Given the description of an element on the screen output the (x, y) to click on. 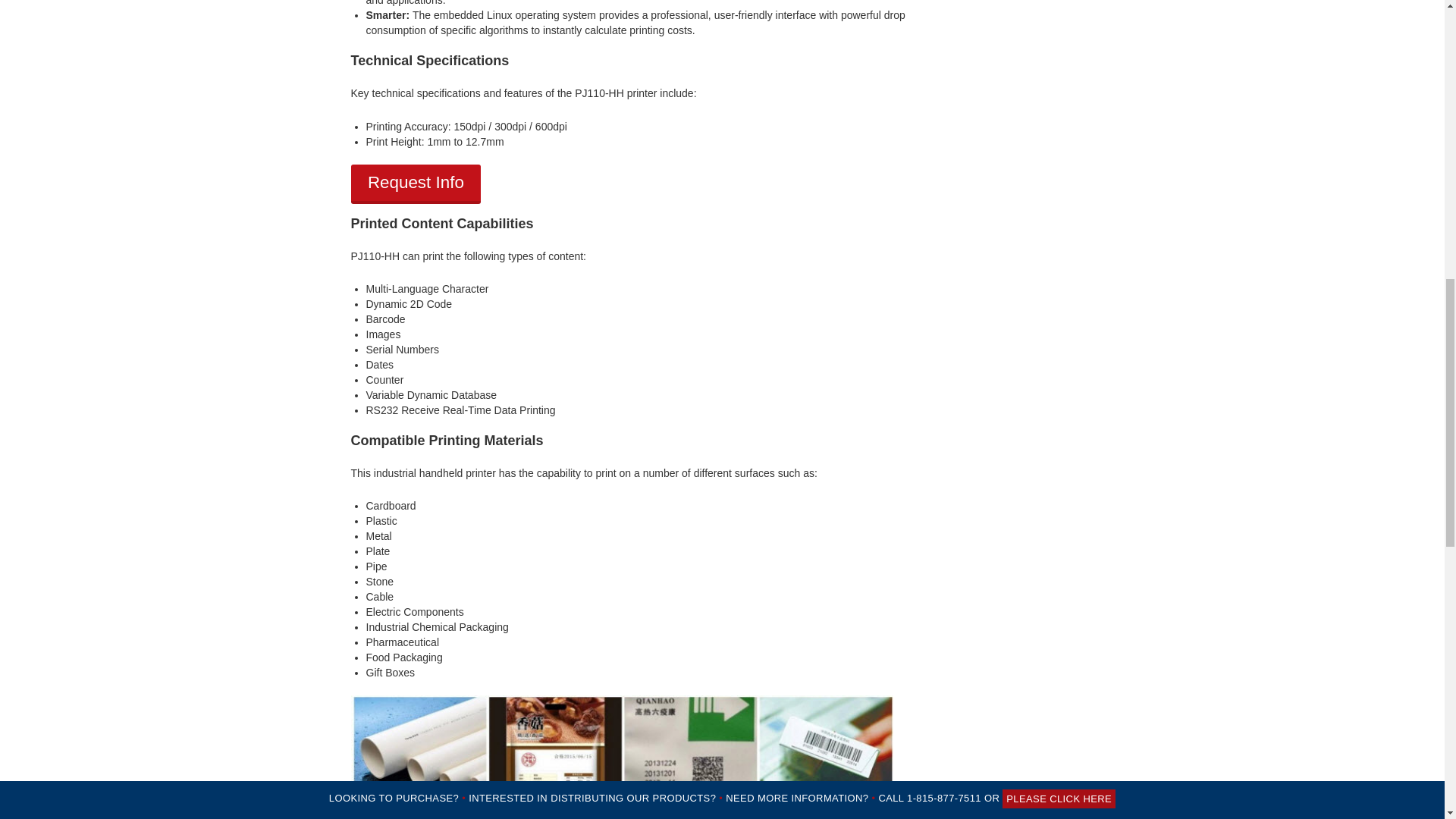
printjet-handheld-2.jpg (621, 756)
